Given the description of an element on the screen output the (x, y) to click on. 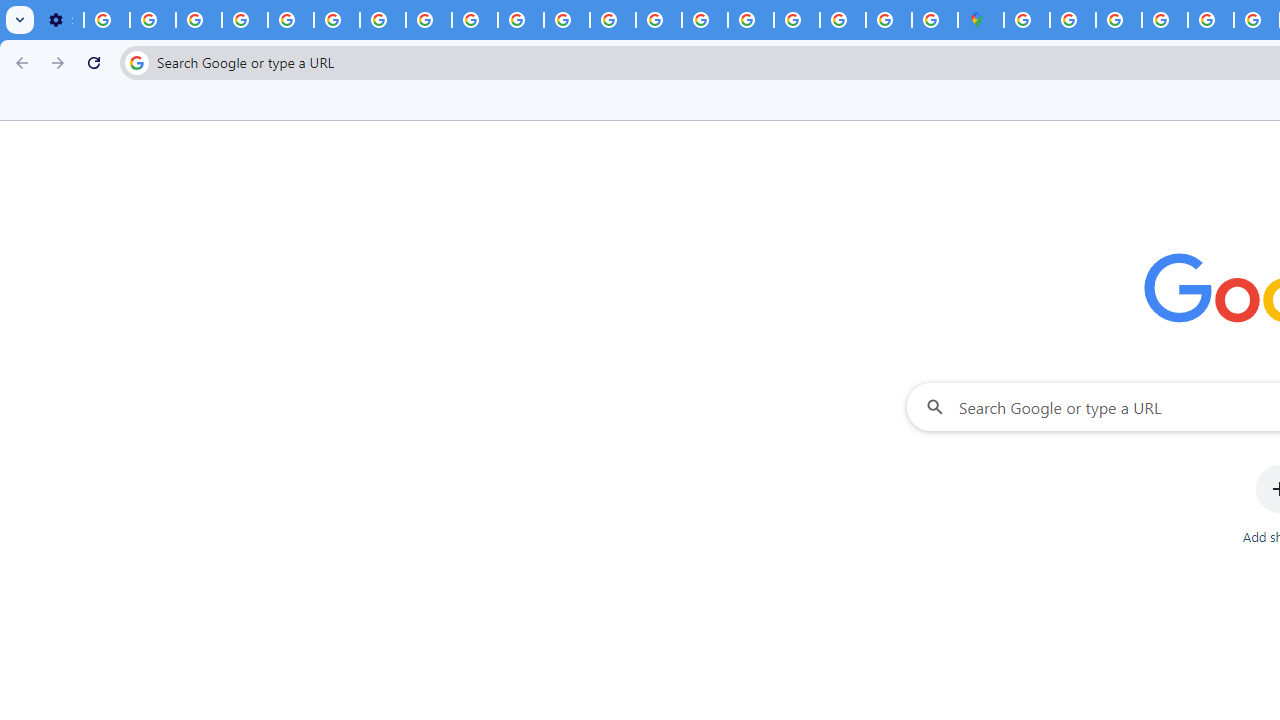
Sign in - Google Accounts (797, 20)
Sign in - Google Accounts (1072, 20)
Privacy Checkup (520, 20)
Google Maps (980, 20)
Sign in - Google Accounts (1026, 20)
Terms and Conditions (1210, 20)
Privacy Help Center - Policies Help (613, 20)
